Given the description of an element on the screen output the (x, y) to click on. 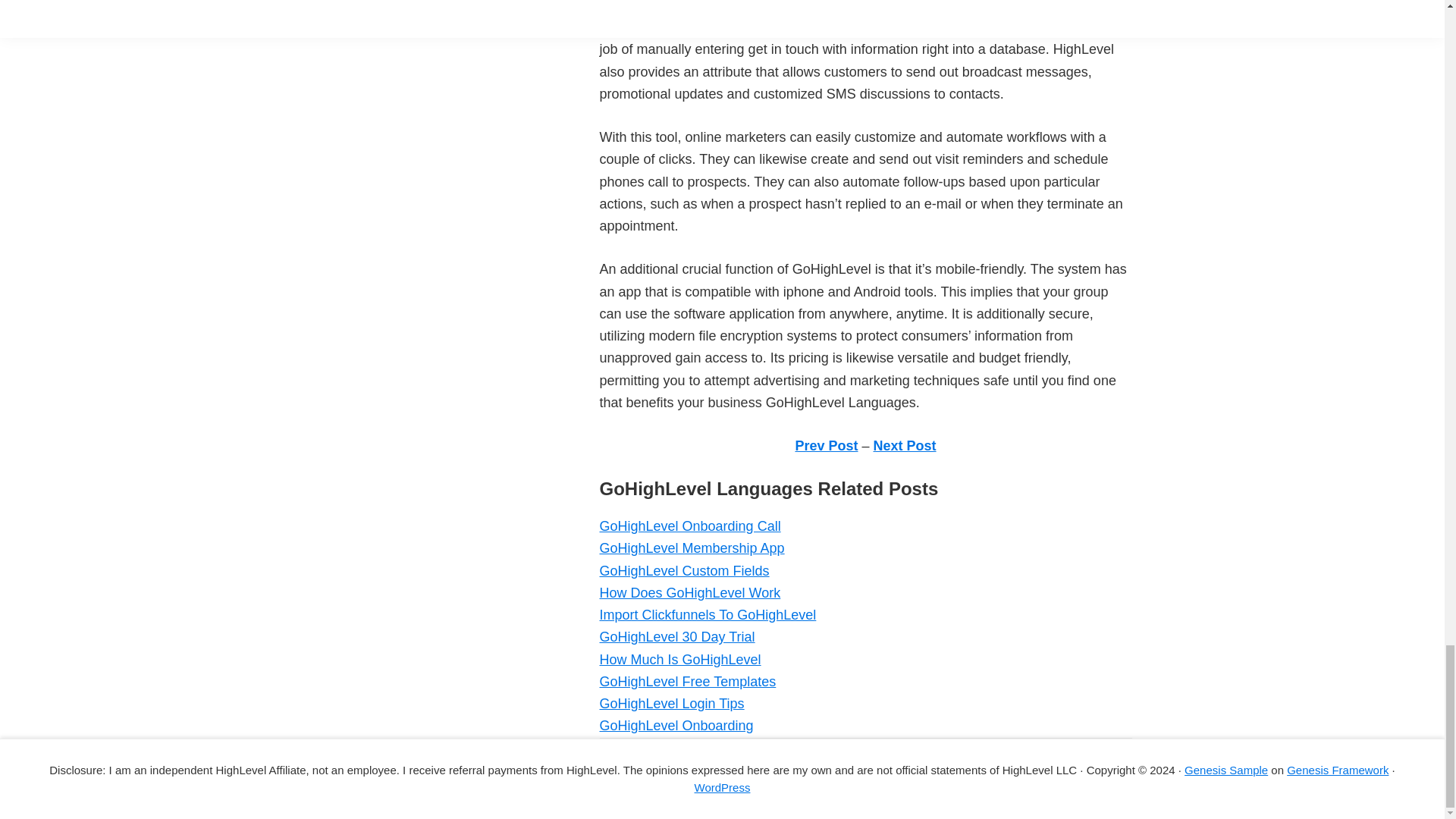
GoHighLevel 30 Day Trial (676, 636)
Next Post (904, 445)
GoHighLevel Custom Fields (683, 570)
Import Clickfunnels To GoHighLevel (706, 614)
GoHighLevel Free Templates (687, 681)
GoHighLevel Login Tips (671, 703)
GoHighLevel Onboarding (675, 725)
GoHighLevel 30 Day Trial (676, 636)
GoHighLevel Membership App (691, 548)
GoHighLevel Onboarding Call (689, 525)
